Given the description of an element on the screen output the (x, y) to click on. 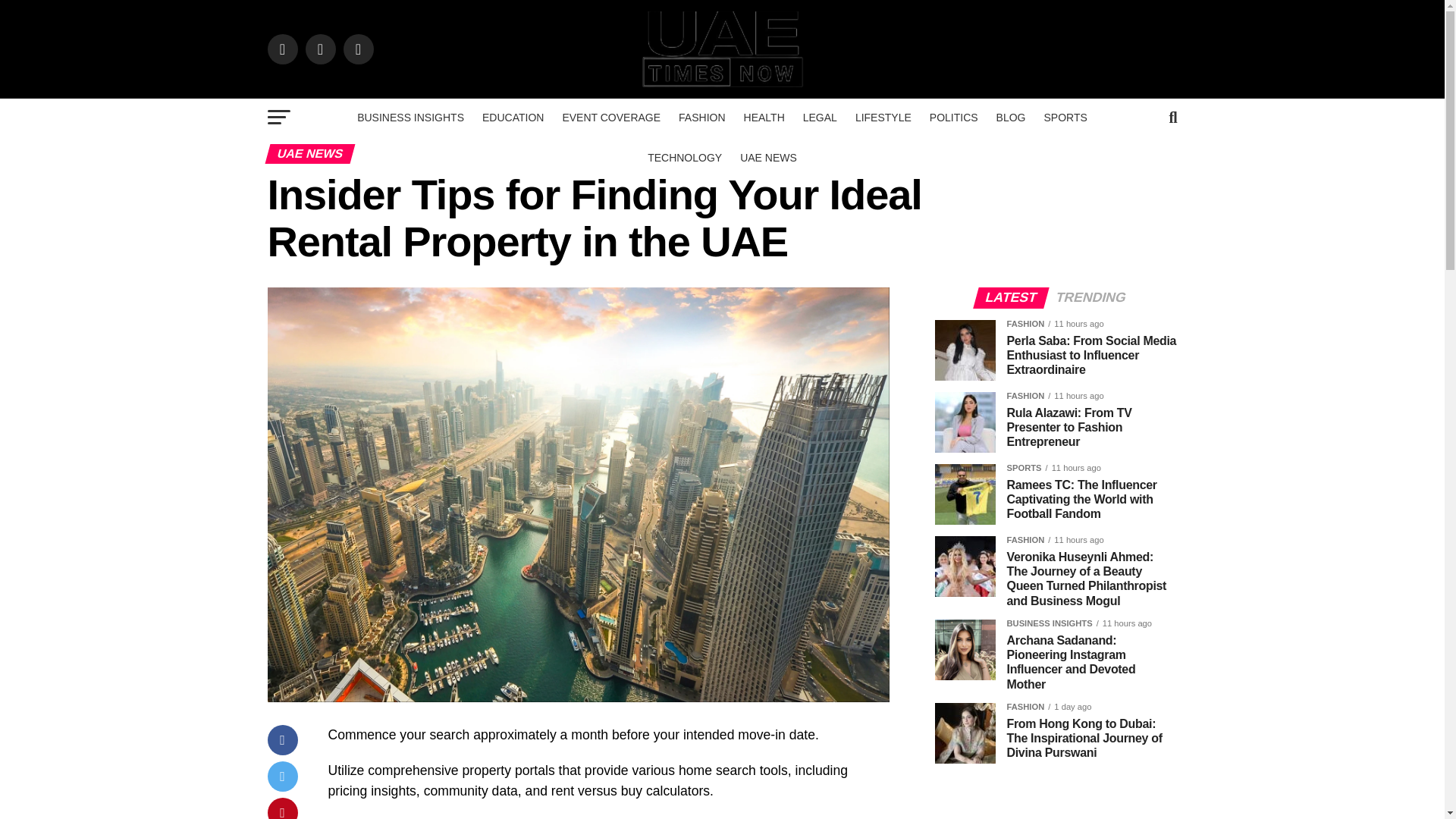
EDUCATION (513, 117)
EVENT COVERAGE (611, 117)
BUSINESS INSIGHTS (410, 117)
FASHION (701, 117)
